Given the description of an element on the screen output the (x, y) to click on. 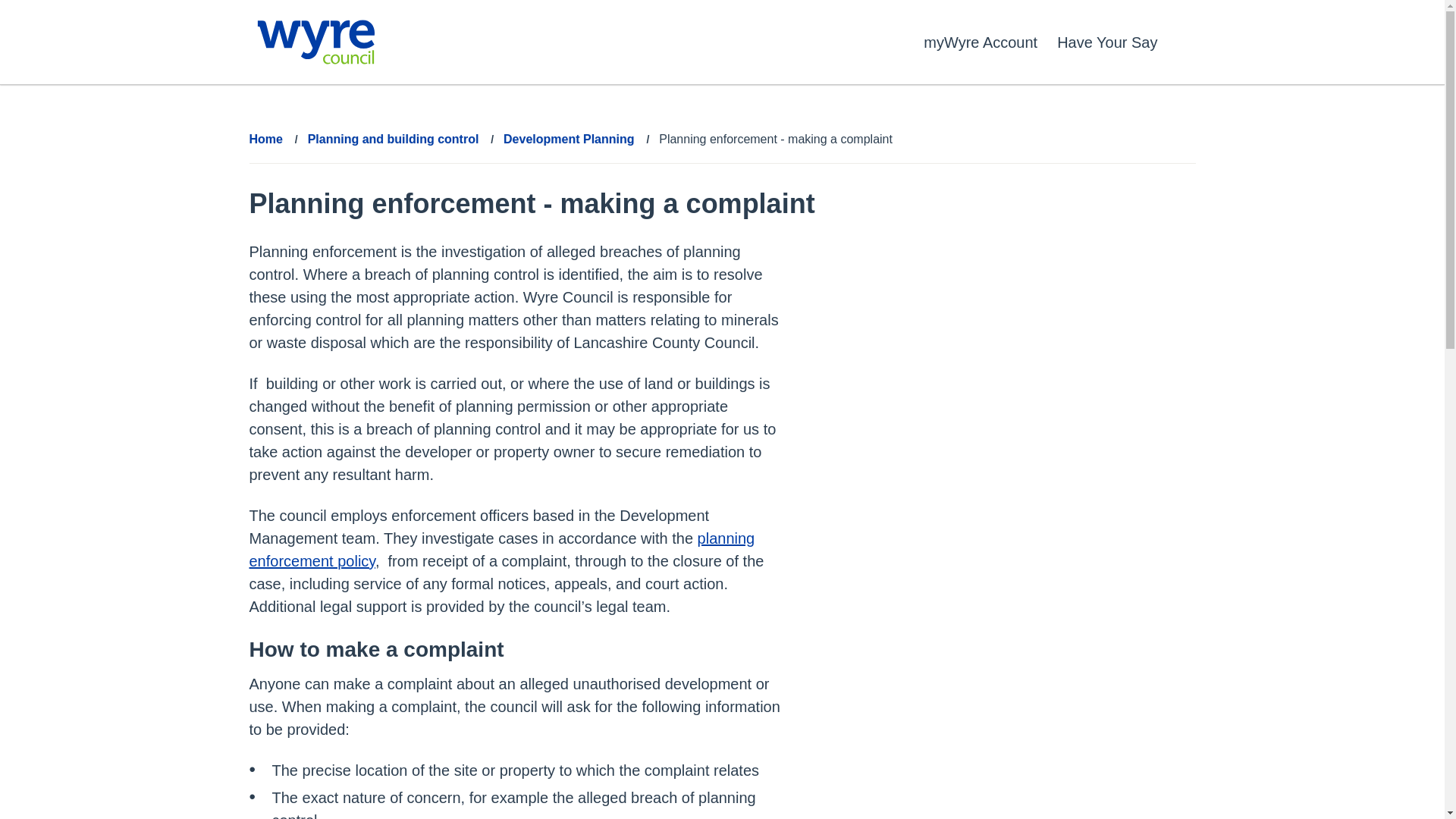
Wyre Council Home Page (314, 42)
Development Planning (568, 139)
Have Your Say (1107, 41)
myWyre Account (979, 41)
Planning and building control (393, 139)
planning enforcement policy (501, 549)
Home (265, 139)
